Given the description of an element on the screen output the (x, y) to click on. 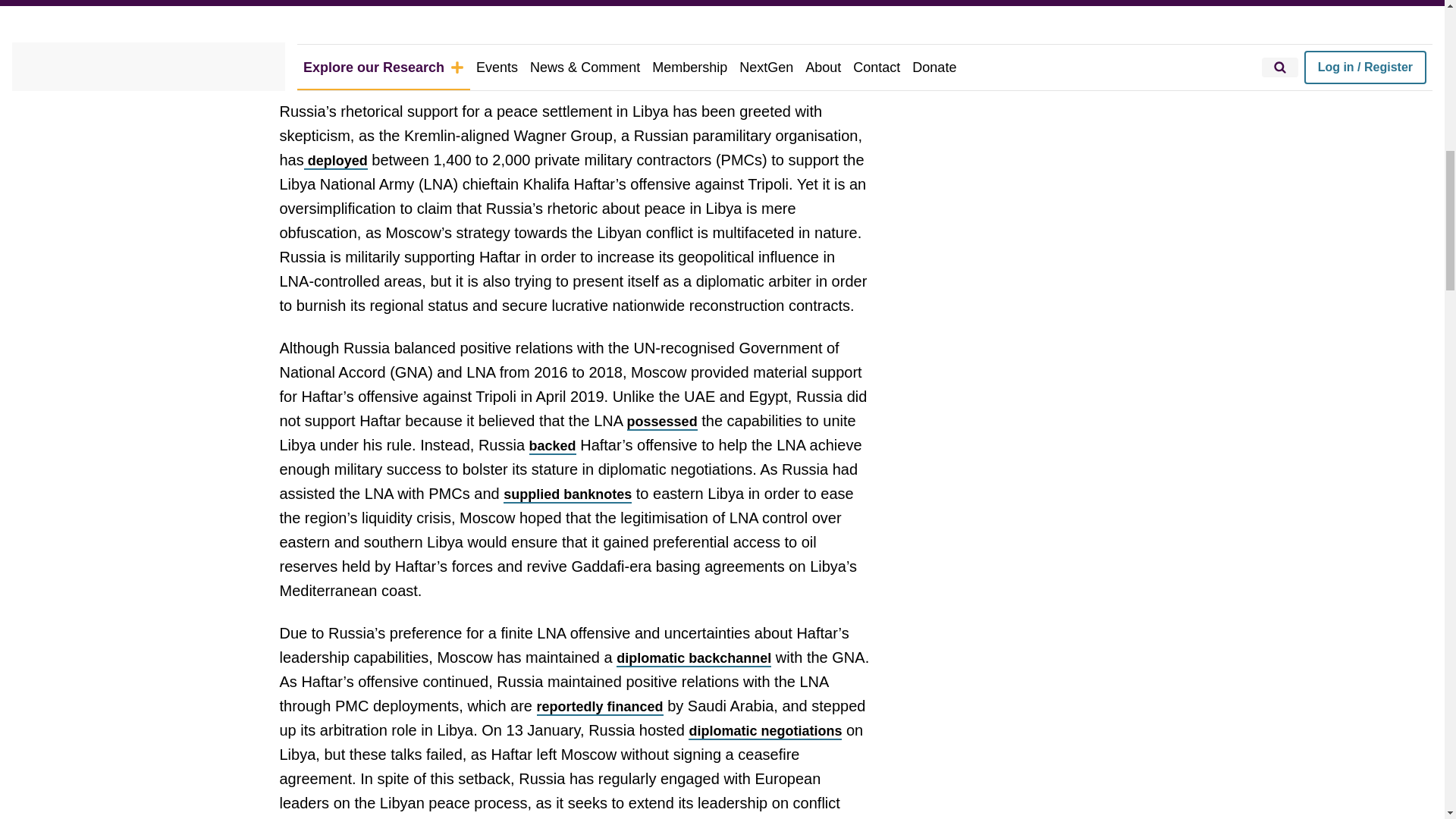
diplomatic negotiations (764, 731)
diplomatic backchannel (693, 658)
expounded (372, 45)
backed (552, 446)
reportedly financed (600, 707)
supplied banknotes (567, 494)
deployed (336, 161)
possessed (662, 422)
